Given the description of an element on the screen output the (x, y) to click on. 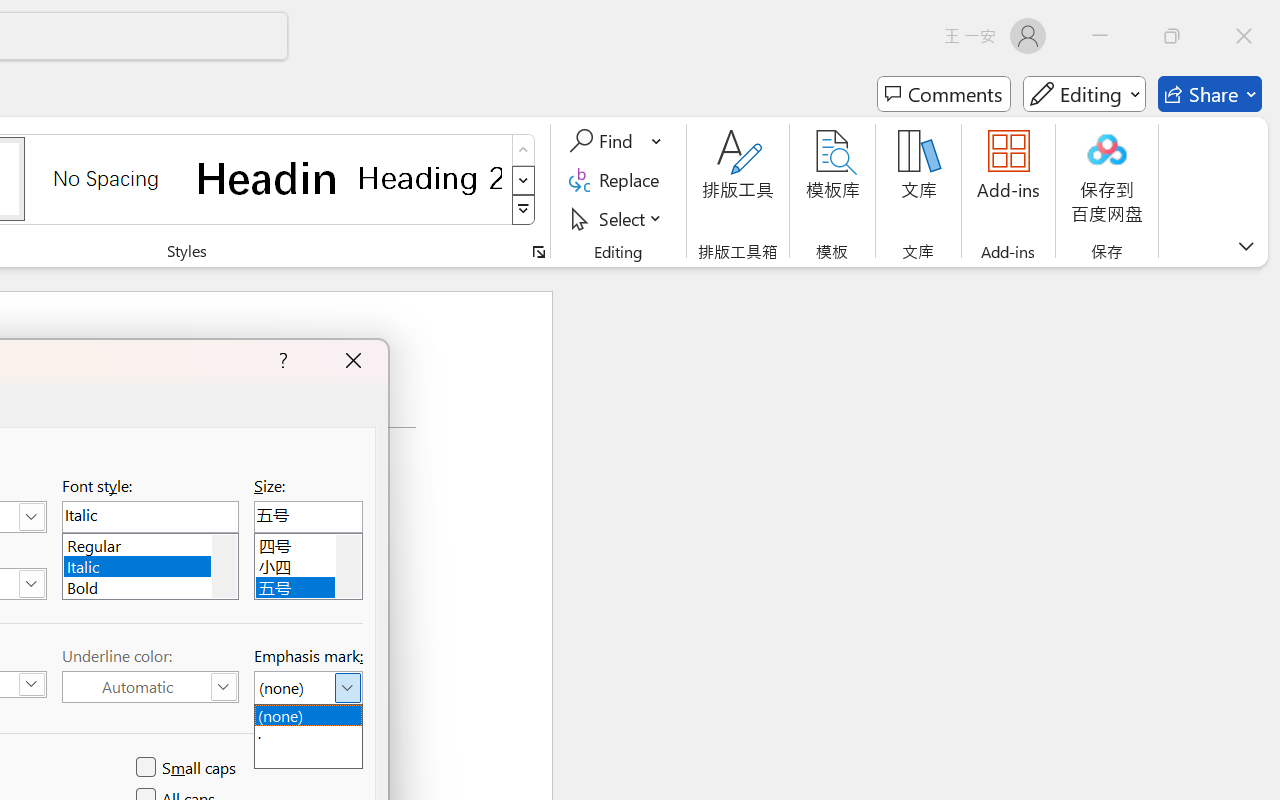
Select (618, 218)
Heading 1 (267, 178)
Underline Color (Automatic) (150, 687)
Regular (150, 542)
AutomationID: 1797 (347, 566)
